Given the description of an element on the screen output the (x, y) to click on. 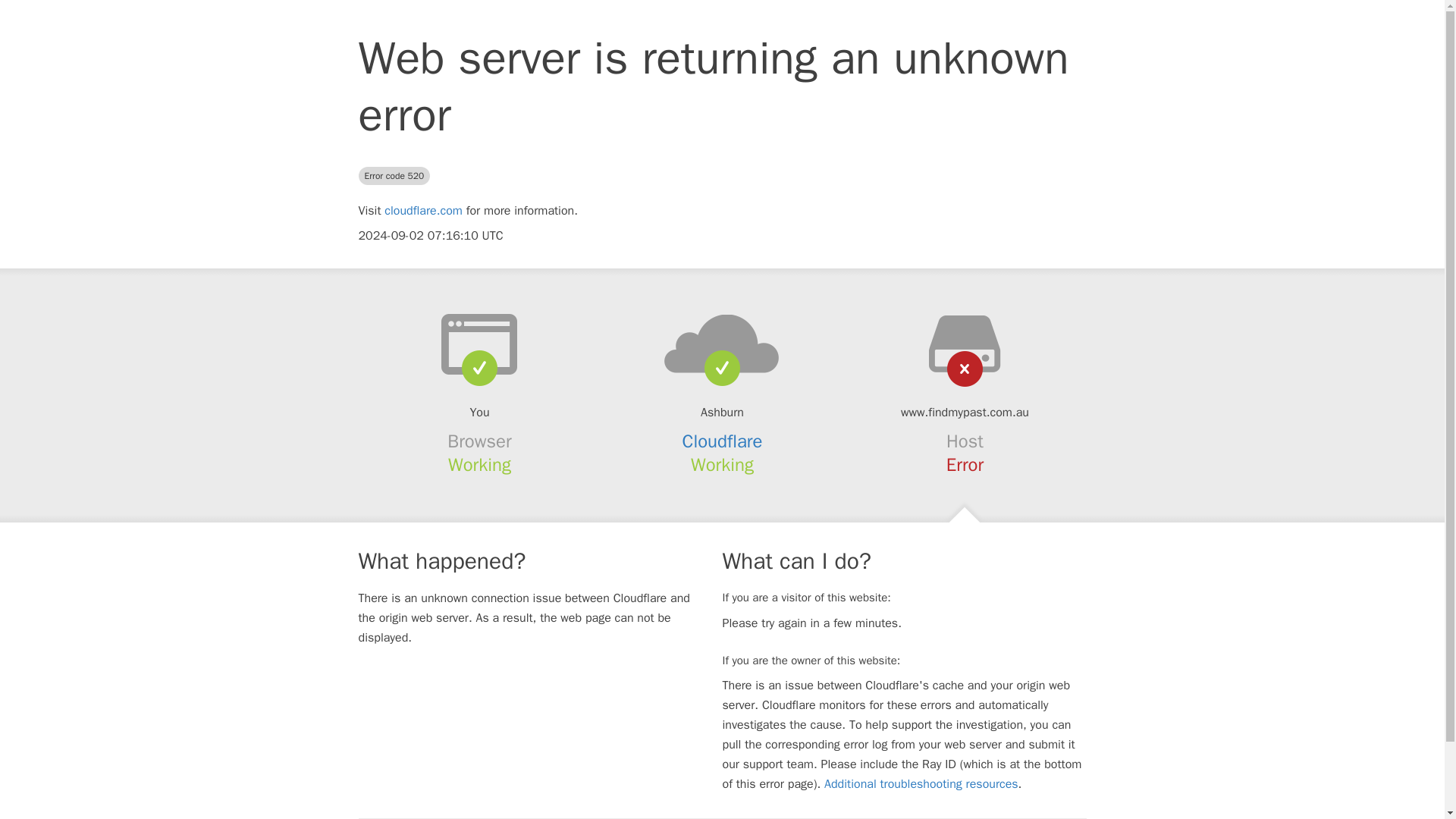
Additional troubleshooting resources (920, 783)
cloudflare.com (423, 210)
Cloudflare (722, 440)
